Given the description of an element on the screen output the (x, y) to click on. 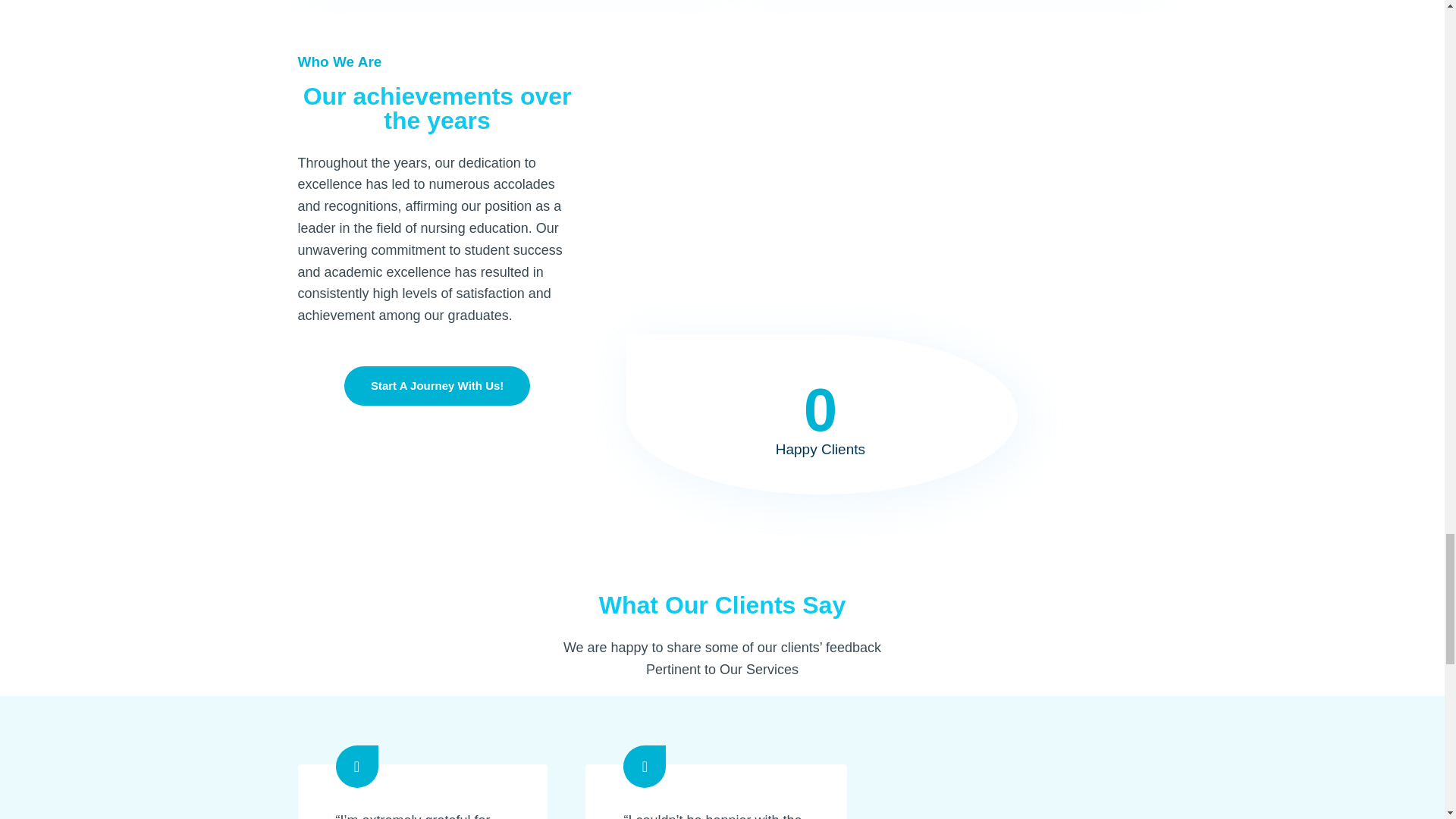
Start A Journey With Us! (436, 385)
